Given the description of an element on the screen output the (x, y) to click on. 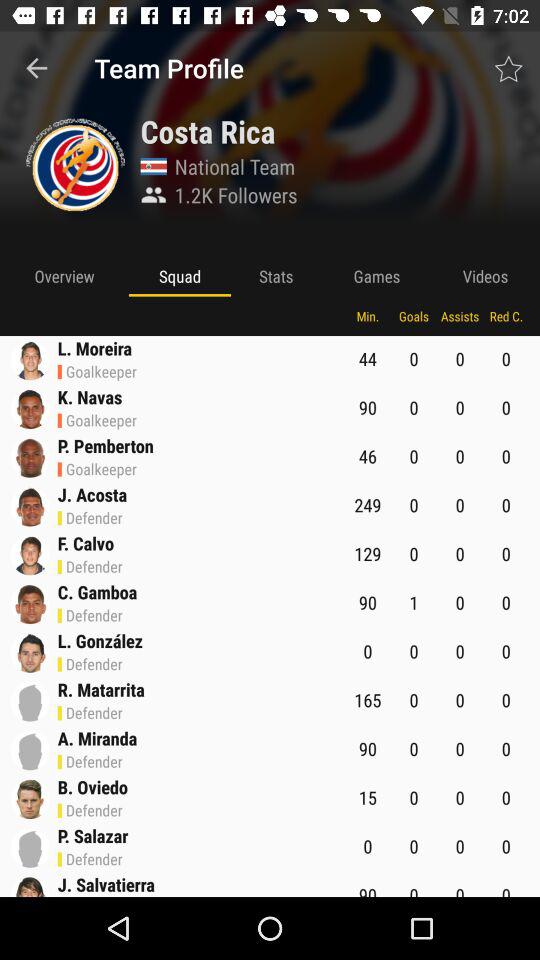
click the squad app (179, 276)
